Given the description of an element on the screen output the (x, y) to click on. 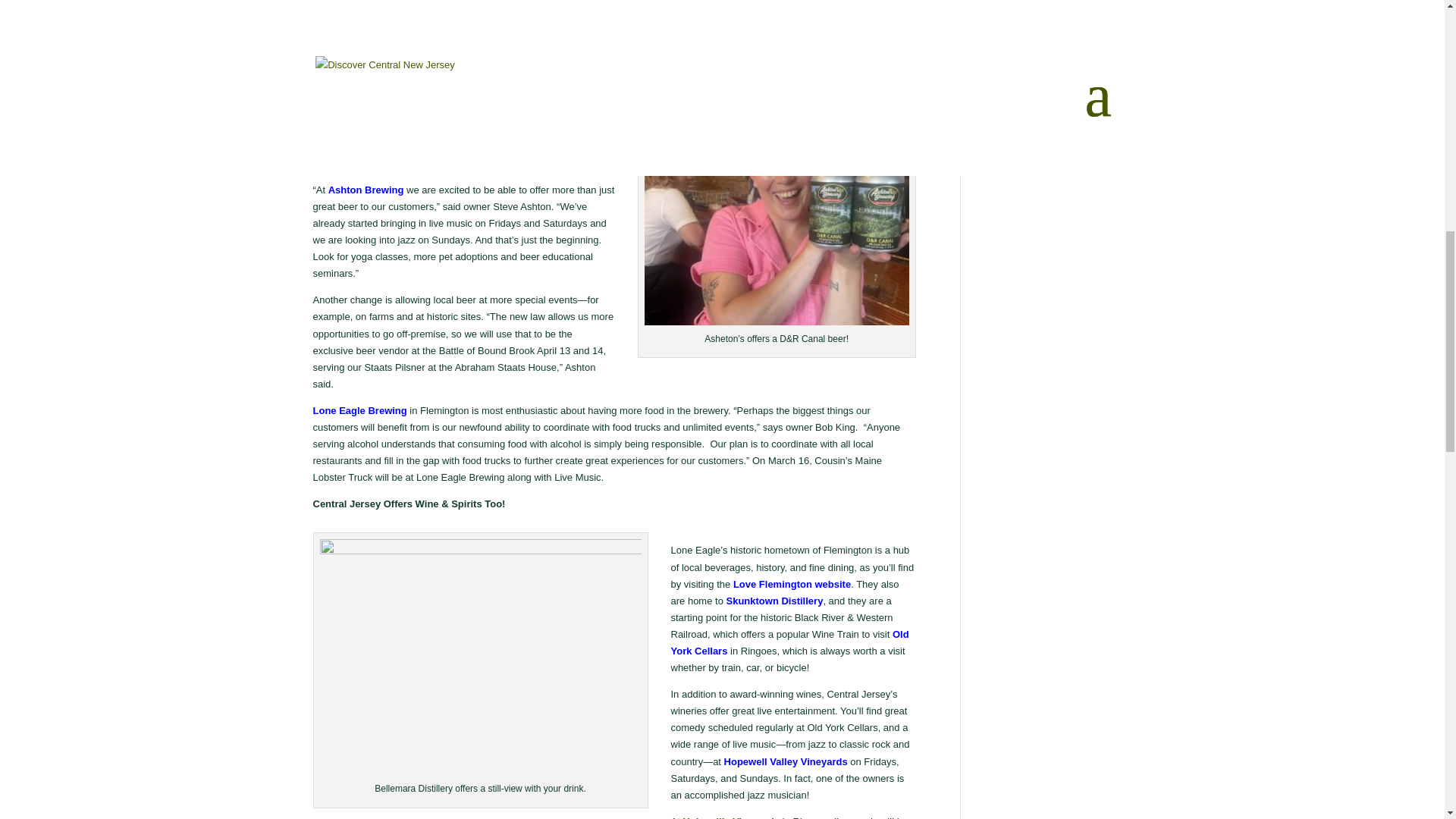
Ashton Brewing (366, 189)
Flounder Brewing (395, 95)
Unionville Vineyards (730, 817)
Love Flemington website (791, 583)
Skunktown Distillery (775, 600)
Lone Eagle Brewing (359, 410)
Old York Cellars (788, 642)
Hopewell Valley Vineyards (785, 761)
